Given the description of an element on the screen output the (x, y) to click on. 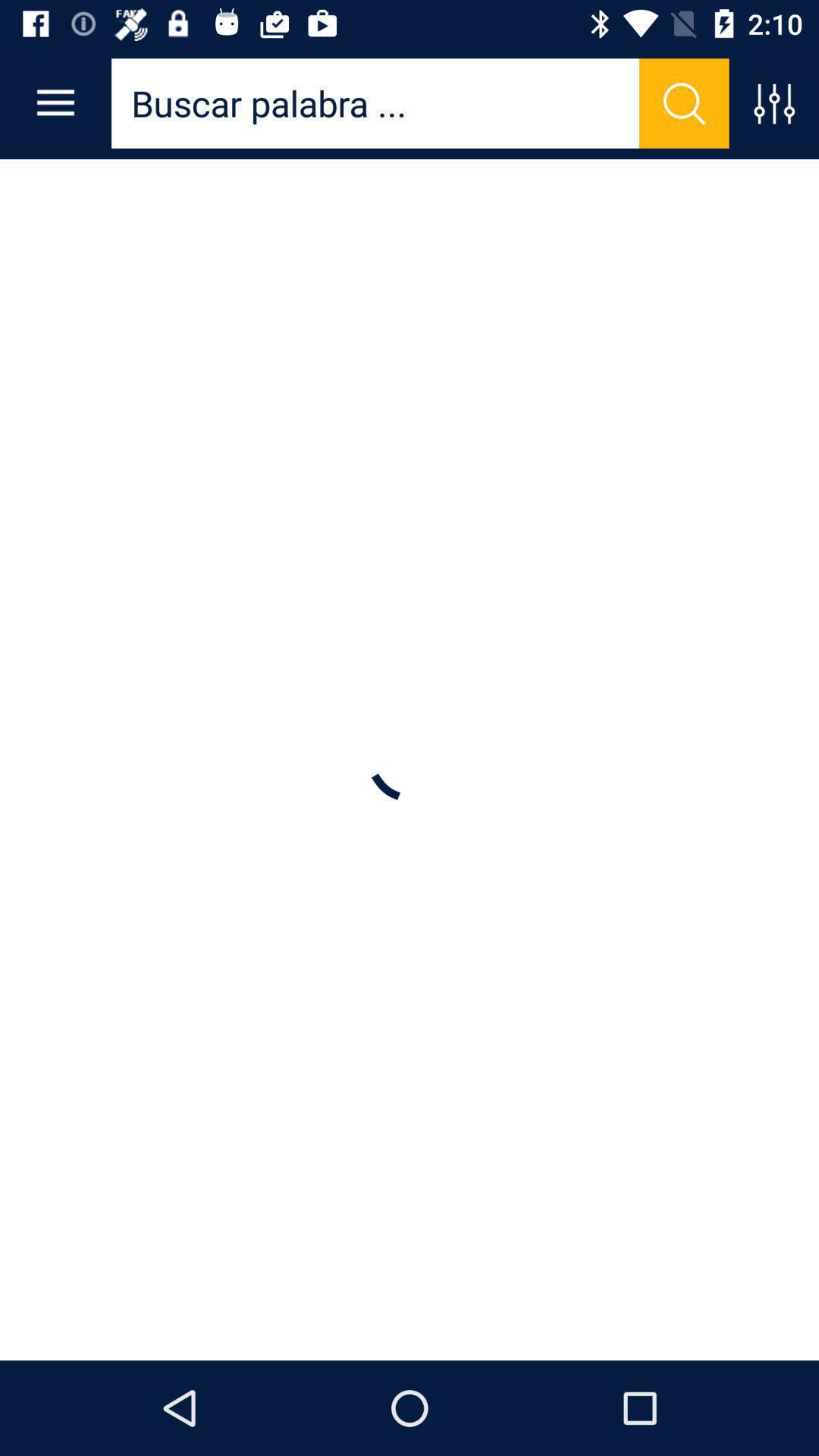
search (684, 103)
